Given the description of an element on the screen output the (x, y) to click on. 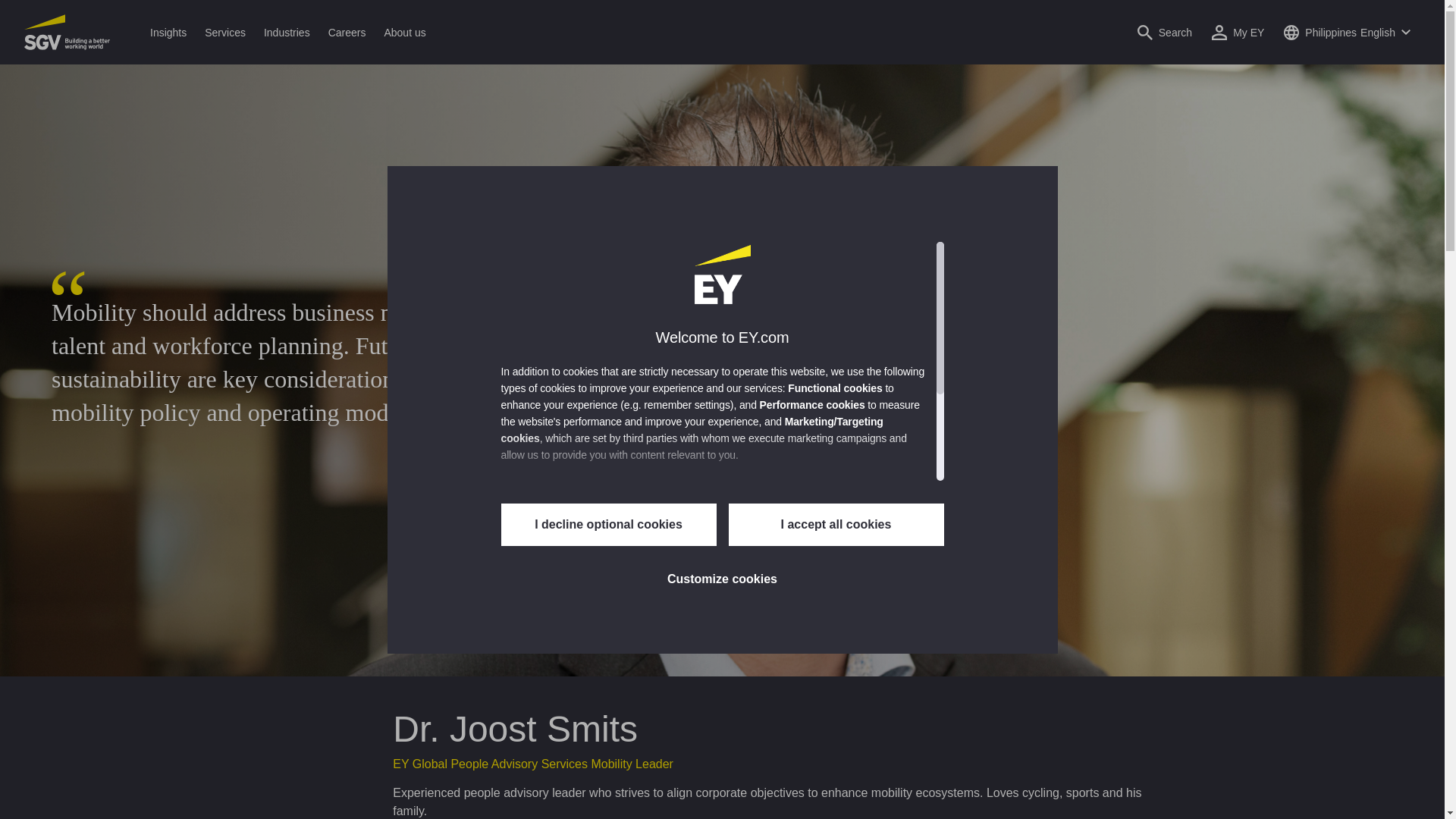
Open search (1164, 32)
EY Homepage (67, 32)
My EY (1238, 32)
Open country language switcher (1346, 32)
